Given the description of an element on the screen output the (x, y) to click on. 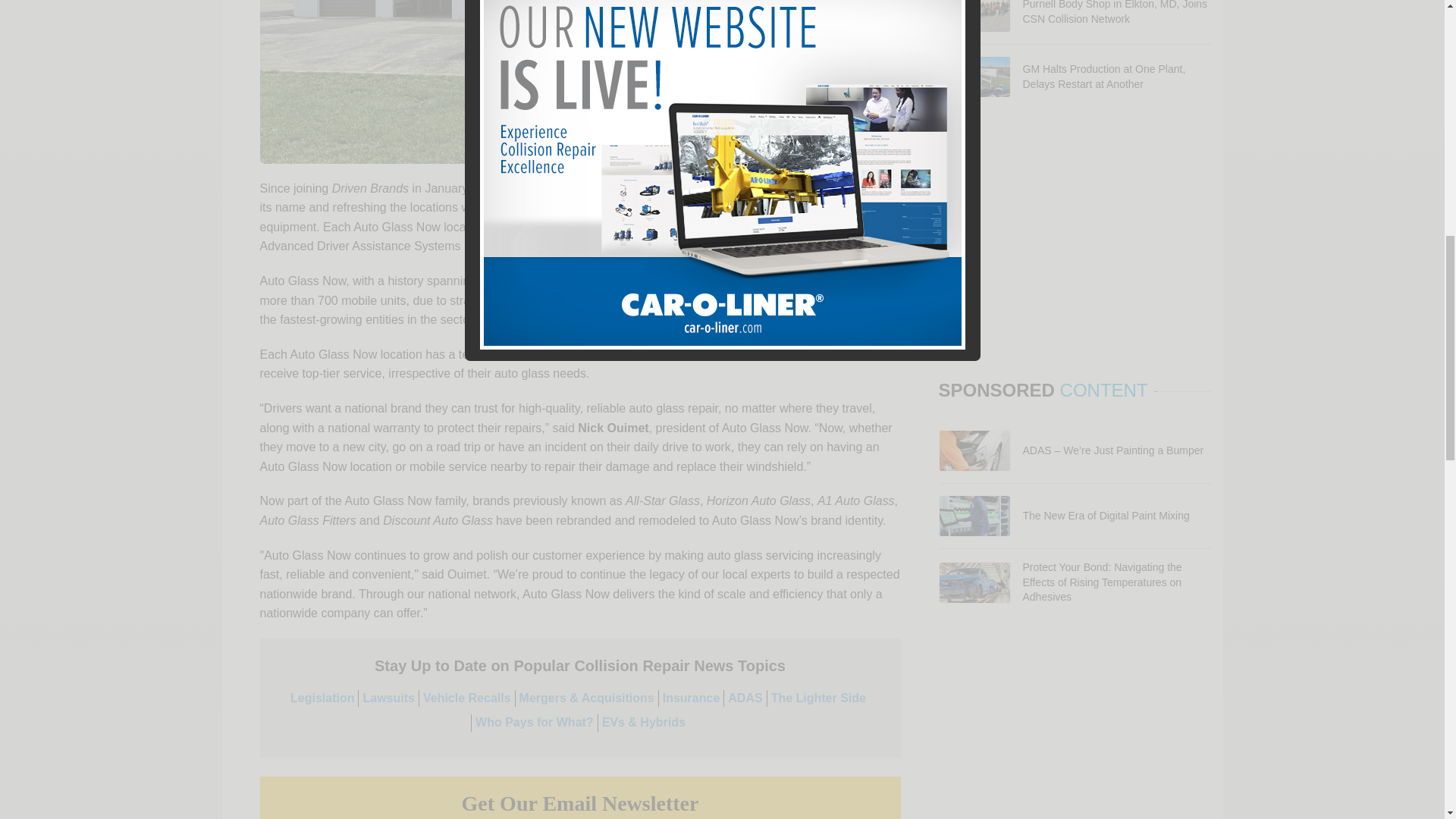
3rd party ad content (1074, 729)
ADAS (744, 697)
Insurance (691, 697)
Vehicle Recalls (467, 697)
Legislation (321, 697)
Who Pays for What? (535, 721)
Lawsuits (387, 697)
3rd party ad content (1074, 243)
The Lighter Side (818, 697)
